Given the description of an element on the screen output the (x, y) to click on. 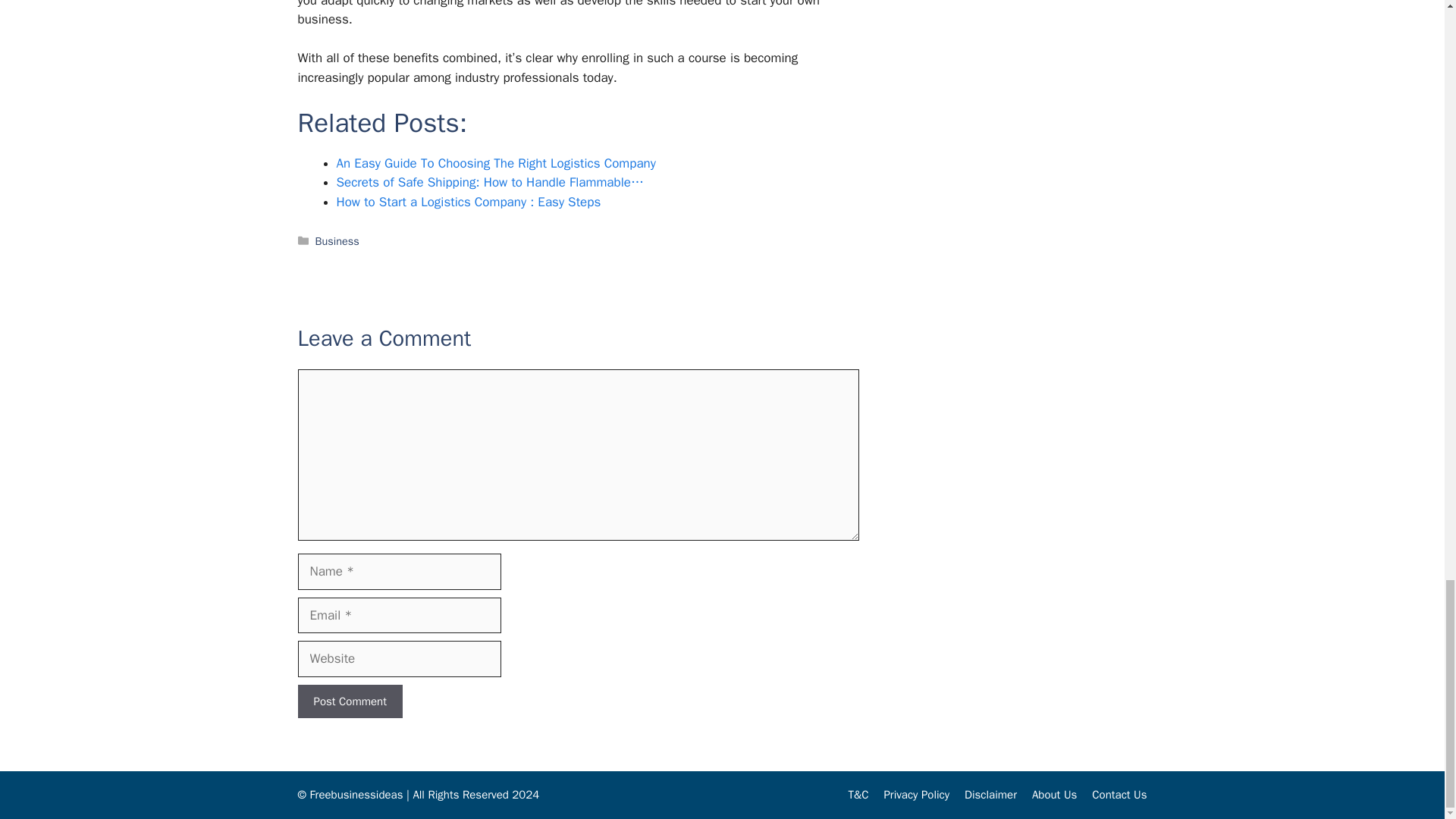
Business (337, 241)
Post Comment (349, 701)
An Easy Guide To Choosing The Right Logistics Company (496, 163)
About Us (1054, 794)
How to Start a Logistics Company : Easy Steps (468, 201)
Contact Us (1119, 794)
Disclaimer (989, 794)
Privacy Policy (916, 794)
Post Comment (349, 701)
